Given the description of an element on the screen output the (x, y) to click on. 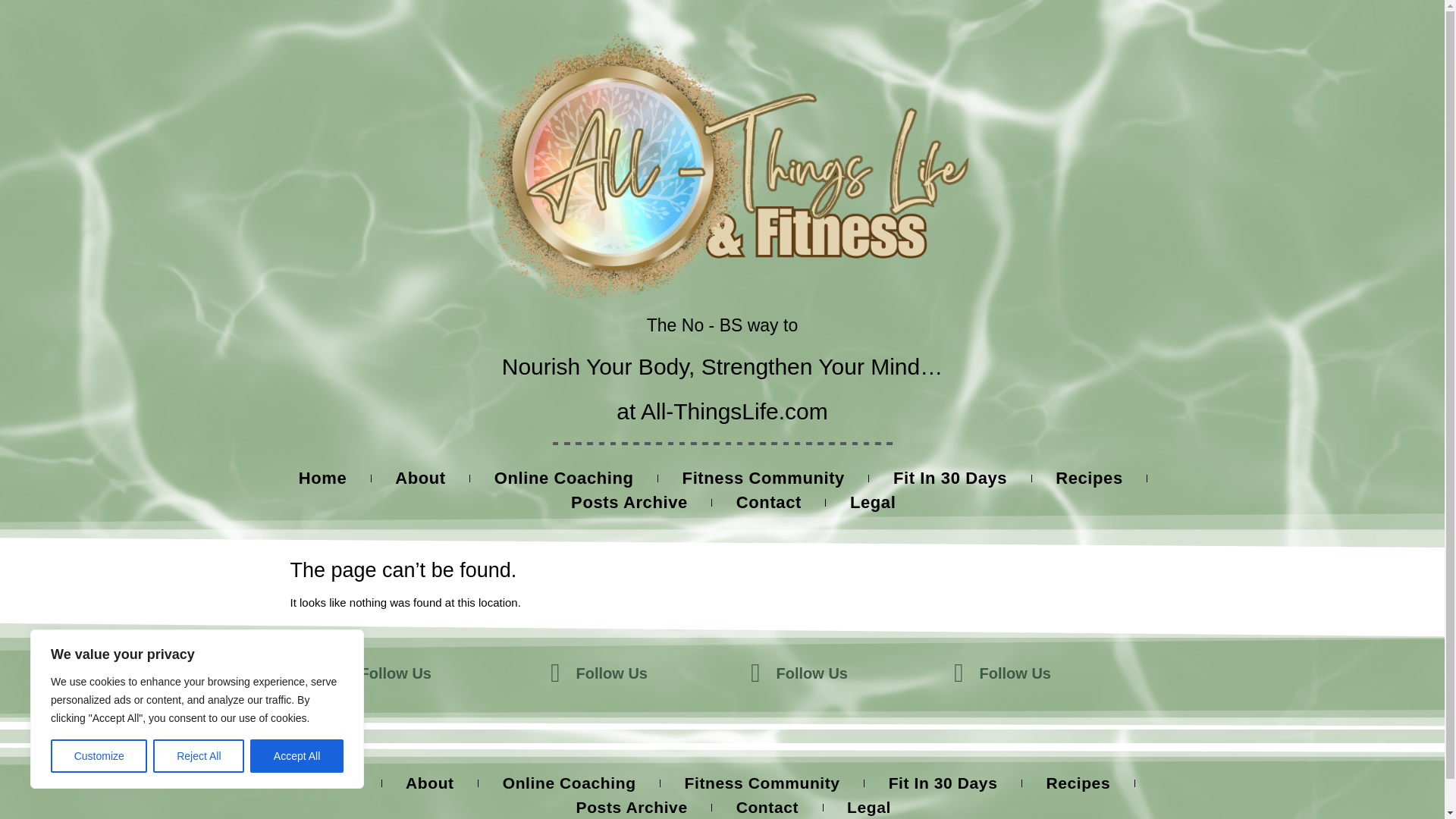
Customize (98, 744)
About (429, 783)
Recipes (1089, 478)
Posts Archive (628, 502)
Legal (872, 502)
Follow Us (394, 673)
Reject All (198, 744)
Accept All (296, 744)
Contact (769, 502)
Fitness Community (763, 478)
Follow Us (611, 673)
Follow Us (1015, 673)
Online Coaching (563, 478)
Home (333, 783)
Fit In 30 Days (950, 478)
